Given the description of an element on the screen output the (x, y) to click on. 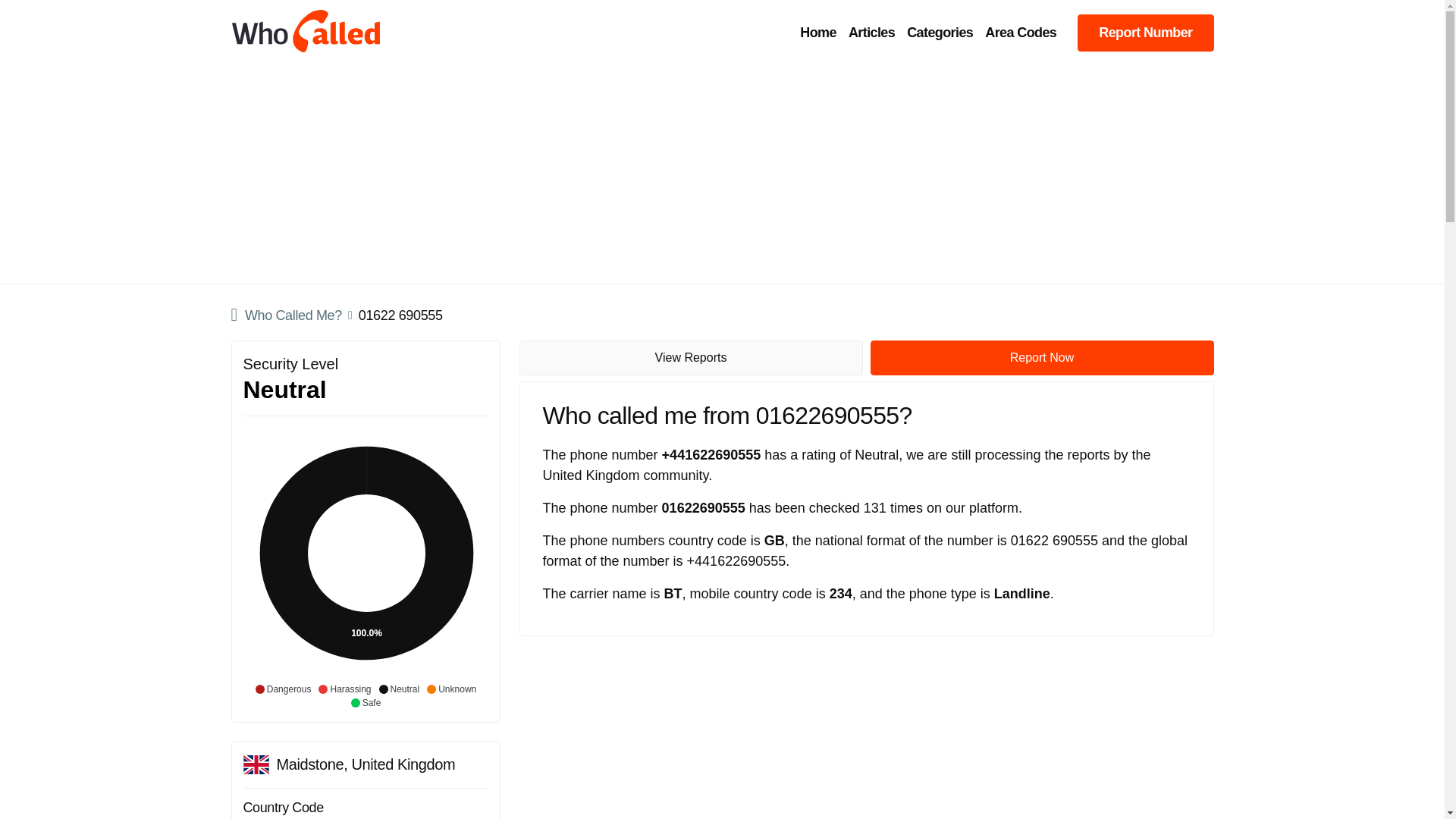
Articles (872, 32)
Report Number (1144, 31)
Categories (939, 32)
UK Area Codes (1020, 32)
Who Called Me (285, 315)
01622 690555 (400, 314)
Area Codes (1020, 32)
View Reports (689, 357)
Who Called Me (818, 32)
Report Number (1144, 31)
Who Called Me? (285, 315)
01622 690555 (400, 314)
Who Called Me (305, 31)
Home (818, 32)
